Given the description of an element on the screen output the (x, y) to click on. 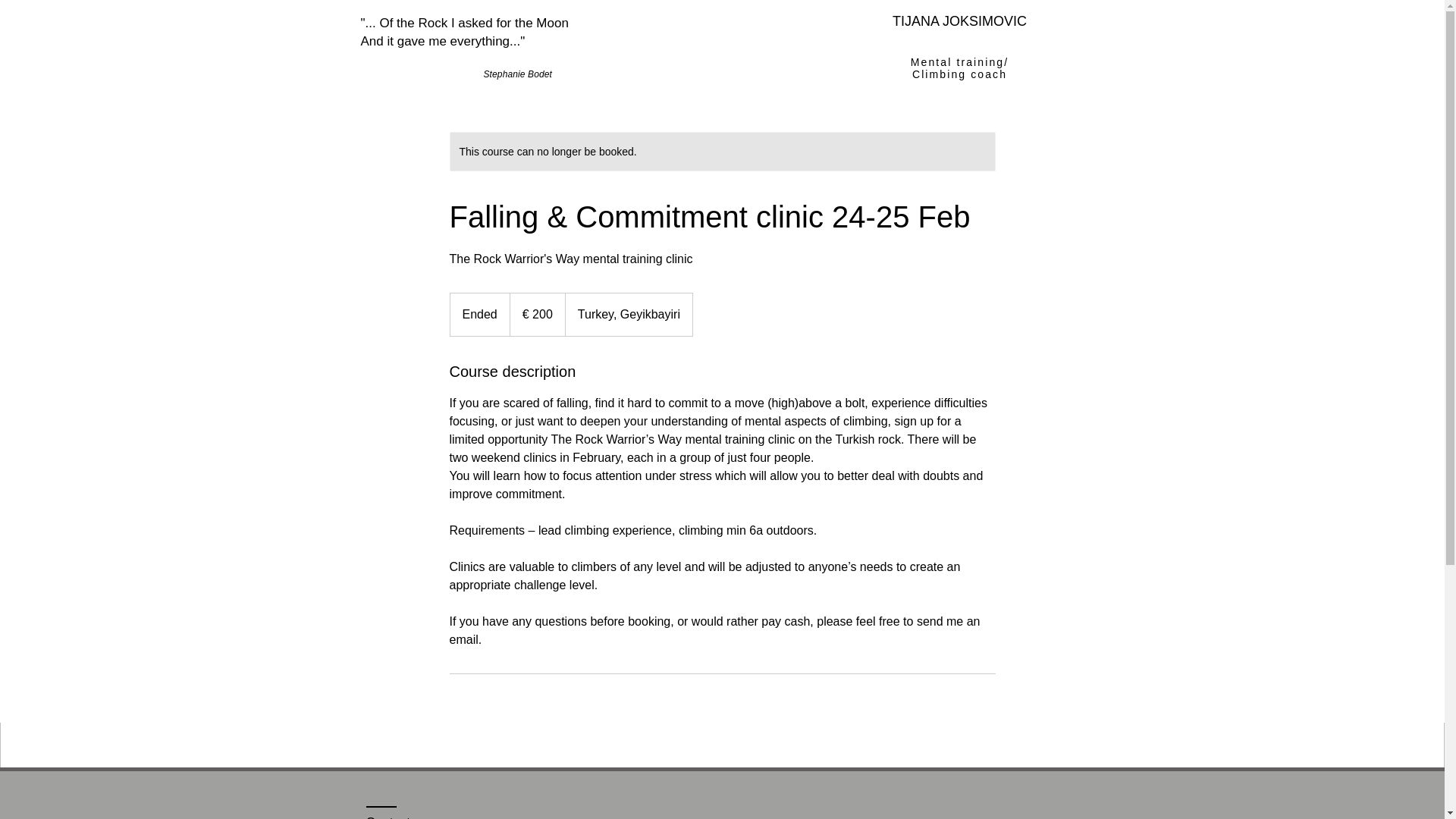
Climbing coach (959, 73)
TIJANA JOKSIMOVIC (959, 20)
